Given the description of an element on the screen output the (x, y) to click on. 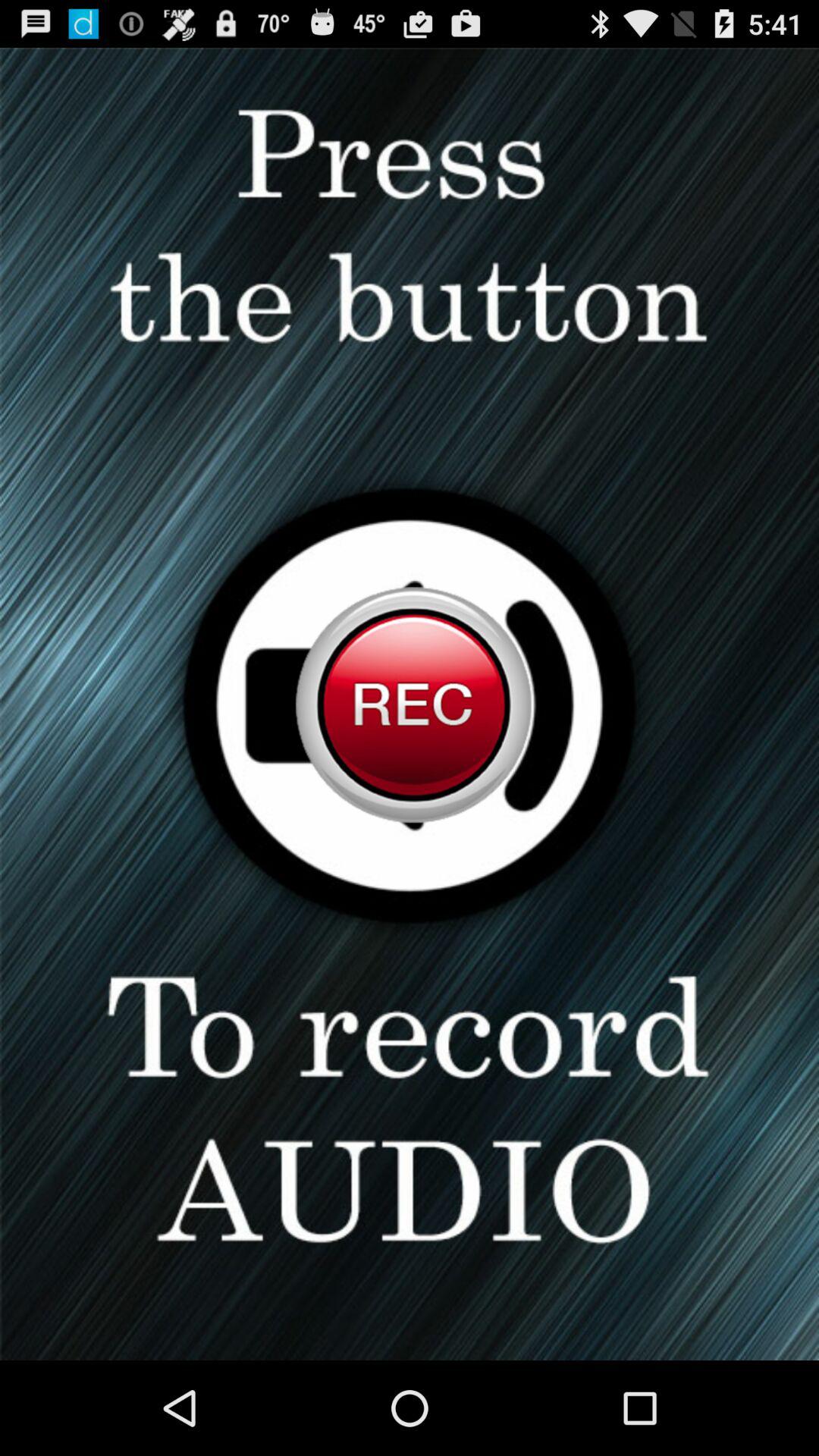
start recording (409, 703)
